Given the description of an element on the screen output the (x, y) to click on. 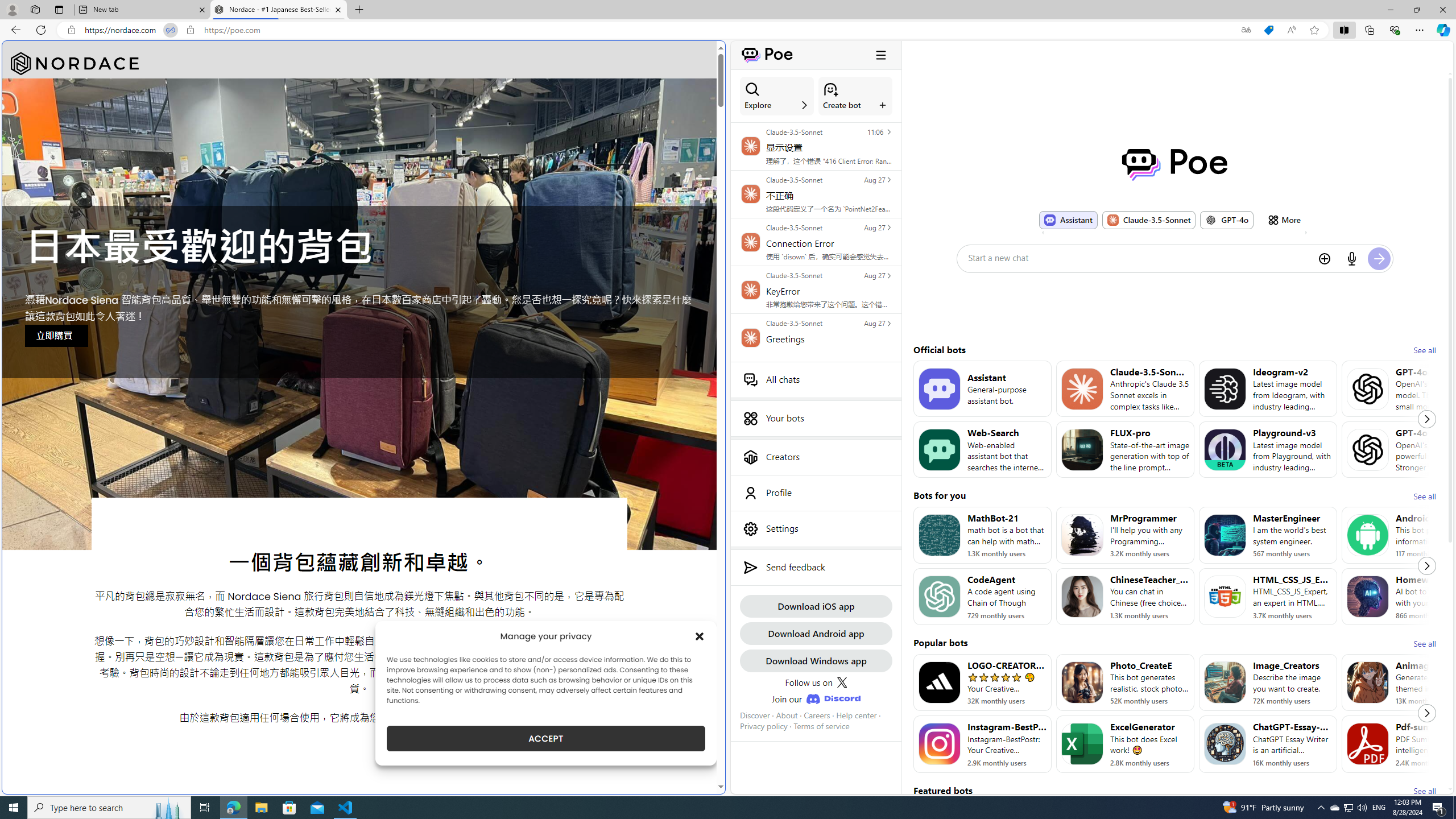
Bot image for Image_Creators (1224, 682)
This site has coupons! Shopping in Microsoft Edge (1268, 29)
Bot image for CodeAgent (938, 596)
Bot image for ExcelGenerator (1081, 743)
Toggle sidebar collapse (880, 54)
Tabs in split screen (170, 29)
Bot image for Playground-v3 (1224, 449)
Class: JoinDiscordLink_discordIcon__Xw13A (833, 698)
Bot image for Assistant (938, 388)
